Given the description of an element on the screen output the (x, y) to click on. 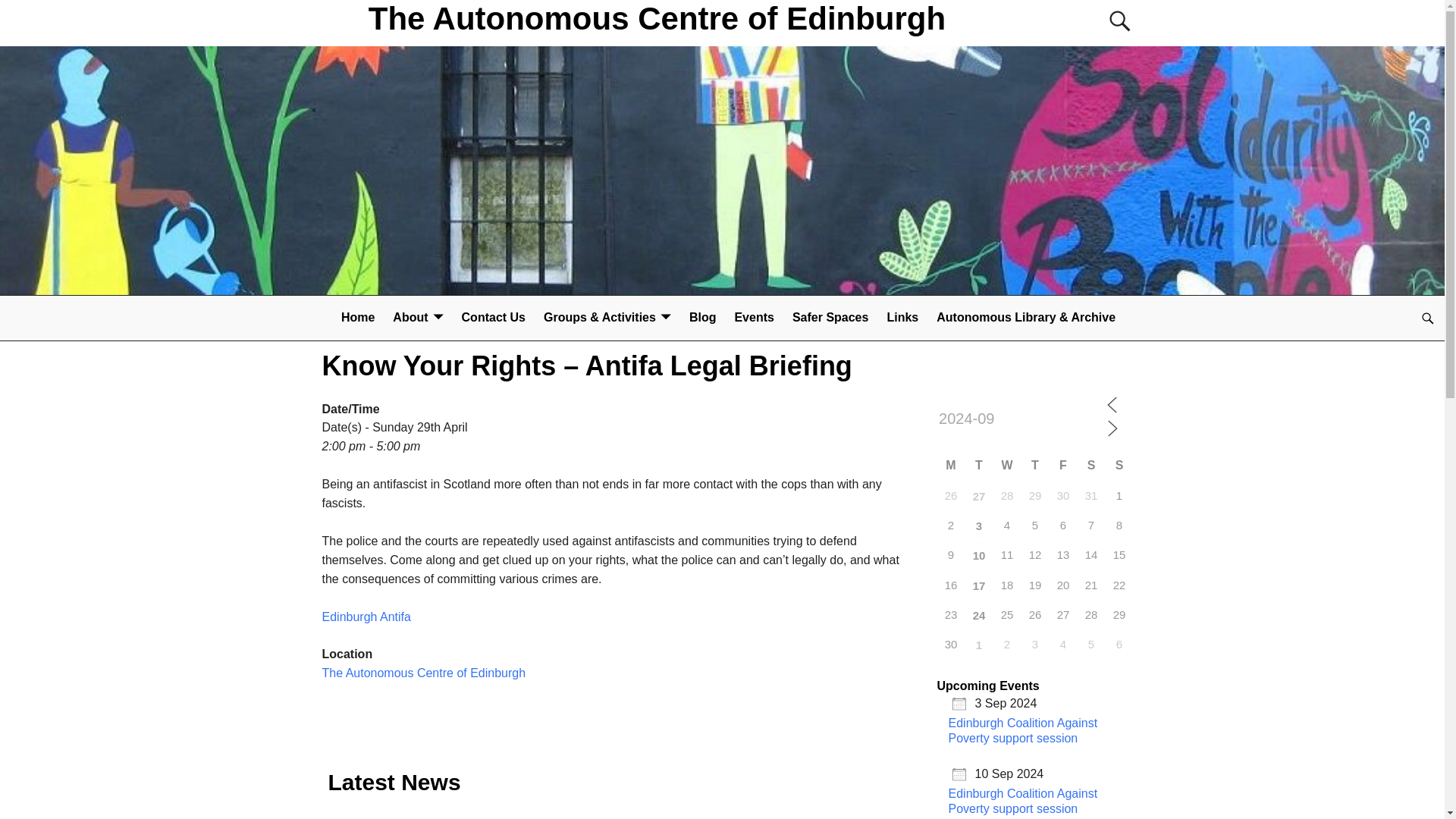
Edinburgh Coalition Against Poverty support session (978, 525)
The Autonomous Centre of Edinburgh (423, 672)
marketing (141, 160)
Edinburgh Coalition Against Poverty support session (978, 585)
3 (978, 525)
10 (978, 554)
Links (902, 317)
The Autonomous Centre of Edinburgh (657, 18)
2024-09 (1016, 418)
Edinburgh Coalition Against Poverty support session (978, 495)
